Given the description of an element on the screen output the (x, y) to click on. 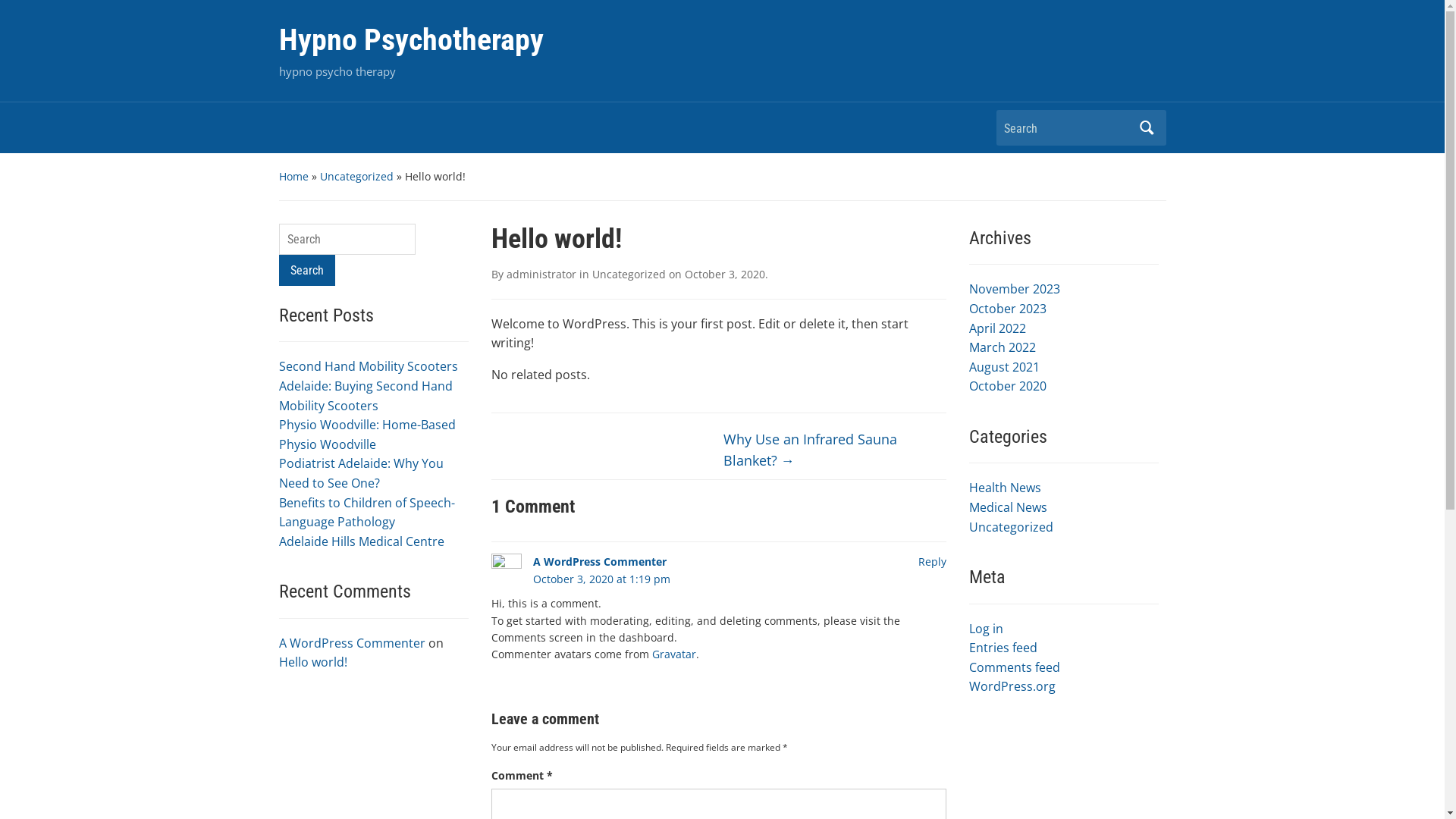
Health News Element type: text (1005, 487)
March 2022 Element type: text (1002, 346)
Hypno Psychotherapy Element type: text (411, 39)
August 2021 Element type: text (1004, 366)
October 2023 Element type: text (1007, 308)
Search Element type: text (307, 269)
A WordPress Commenter Element type: text (352, 642)
Uncategorized Element type: text (356, 176)
Medical News Element type: text (1008, 506)
administrator Element type: text (541, 273)
November 2023 Element type: text (1014, 288)
October 3, 2020 Element type: text (724, 273)
Entries feed Element type: text (1003, 647)
Podiatrist Adelaide: Why You Need to See One? Element type: text (361, 473)
WordPress.org Element type: text (1012, 685)
Search Element type: text (1146, 127)
October 3, 2020 at 1:19 pm Element type: text (600, 578)
Hello world! Element type: text (313, 661)
Log in Element type: text (986, 628)
Gravatar Element type: text (674, 653)
Uncategorized Element type: text (628, 273)
Comments feed Element type: text (1014, 666)
October 2020 Element type: text (1007, 385)
Home Element type: text (293, 176)
Uncategorized Element type: text (1011, 526)
A WordPress Commenter Element type: text (598, 561)
Reply Element type: text (931, 561)
Physio Woodville: Home-Based Physio Woodville Element type: text (367, 434)
Benefits to Children of Speech-Language Pathology Element type: text (367, 512)
April 2022 Element type: text (997, 328)
Adelaide Hills Medical Centre Element type: text (361, 541)
